Given the description of an element on the screen output the (x, y) to click on. 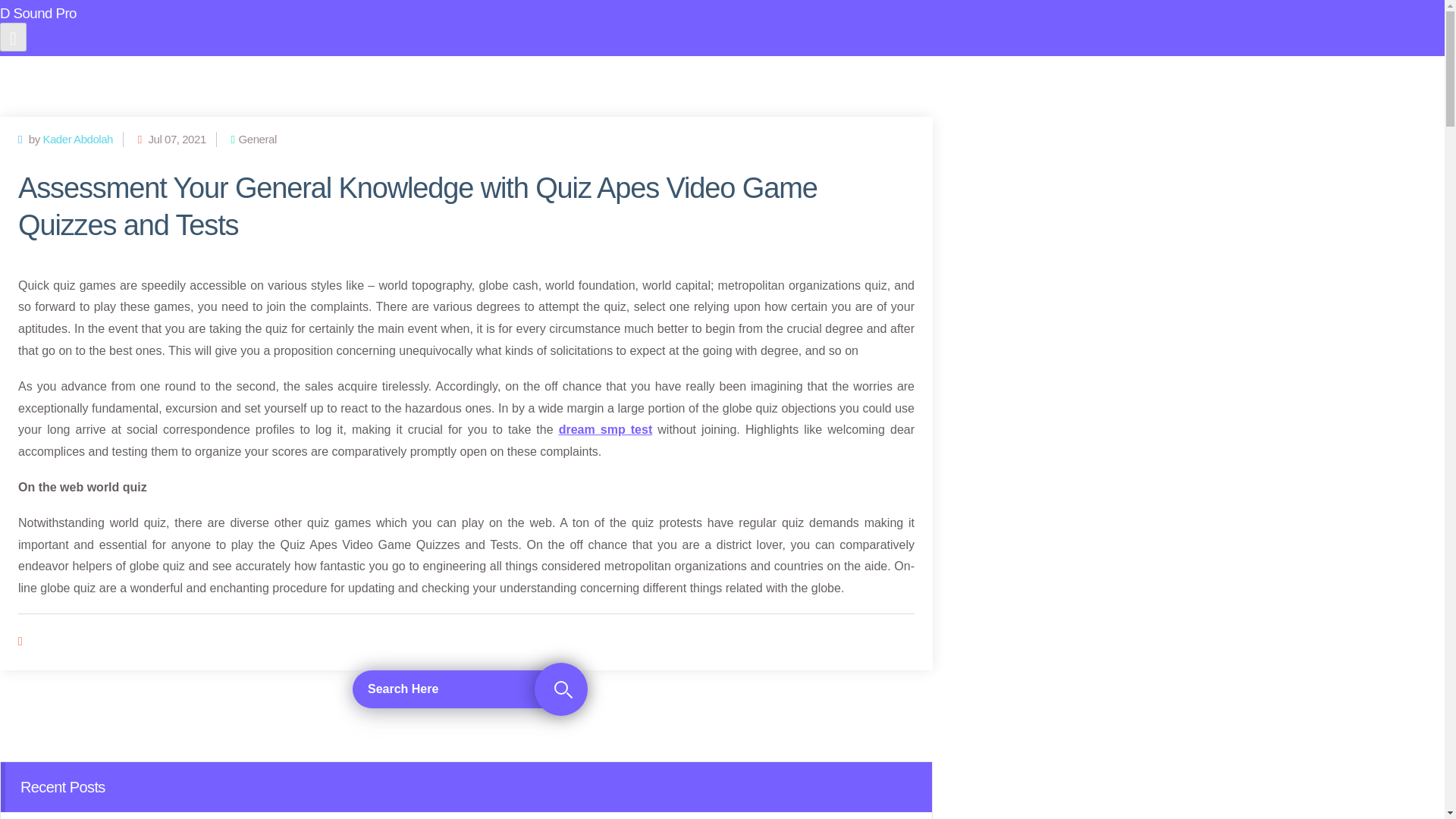
HEALTH (826, 76)
TECHNOLOGY (668, 76)
Kader Abdolah (77, 138)
TRAVEL (756, 76)
D Sound Pro (466, 25)
GENERAL (901, 76)
dream smp test (605, 429)
